Given the description of an element on the screen output the (x, y) to click on. 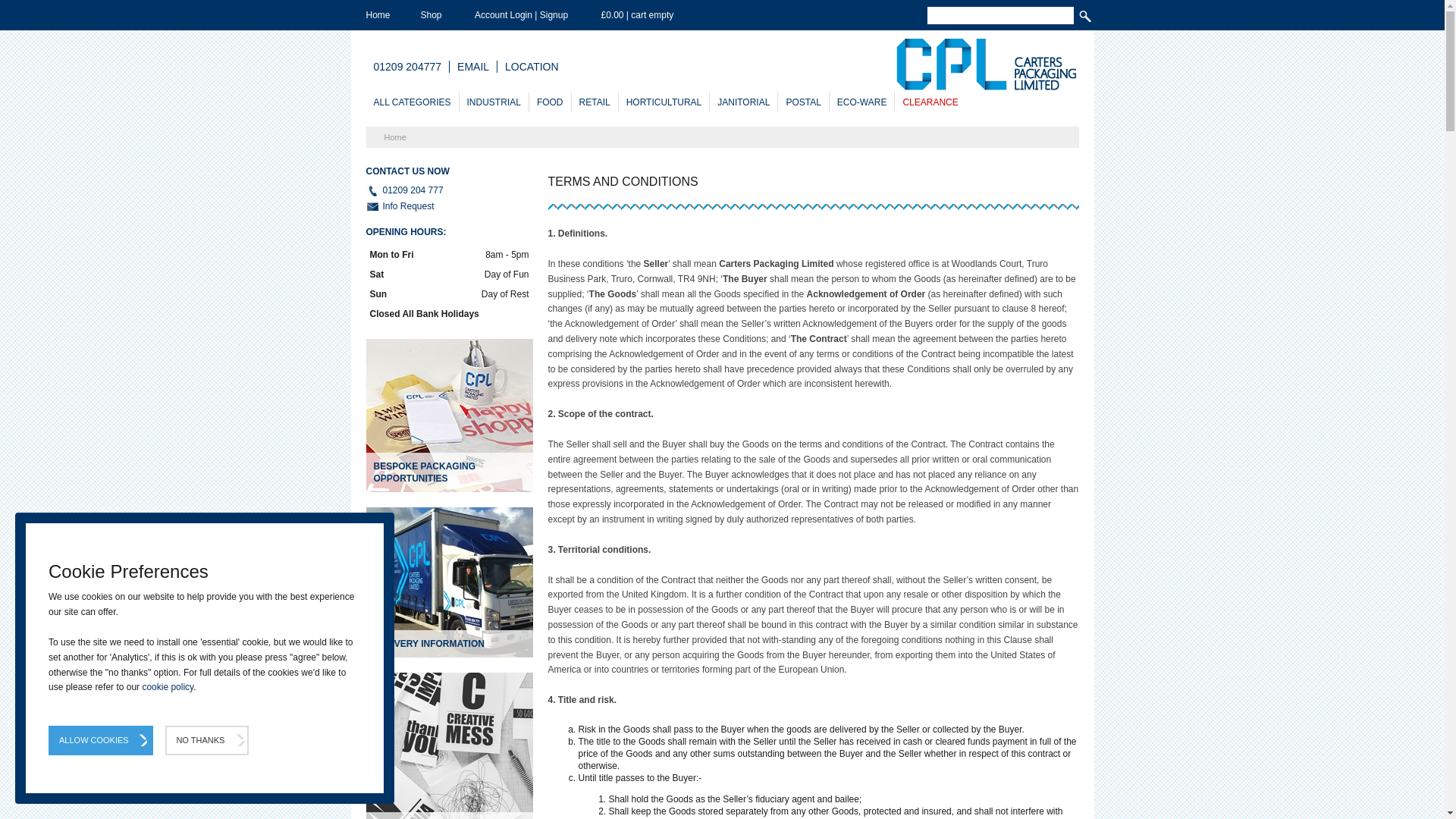
01209 204777 (406, 66)
FOOD (550, 102)
Home (377, 15)
Latest News (448, 745)
Bespoke Packaging Opportunitites (448, 415)
INDUSTRIAL (494, 102)
EMAIL (472, 66)
ALL CATEGORIES (411, 102)
Delivery Information (448, 581)
LOCATION (531, 66)
Shop (431, 15)
